Given the description of an element on the screen output the (x, y) to click on. 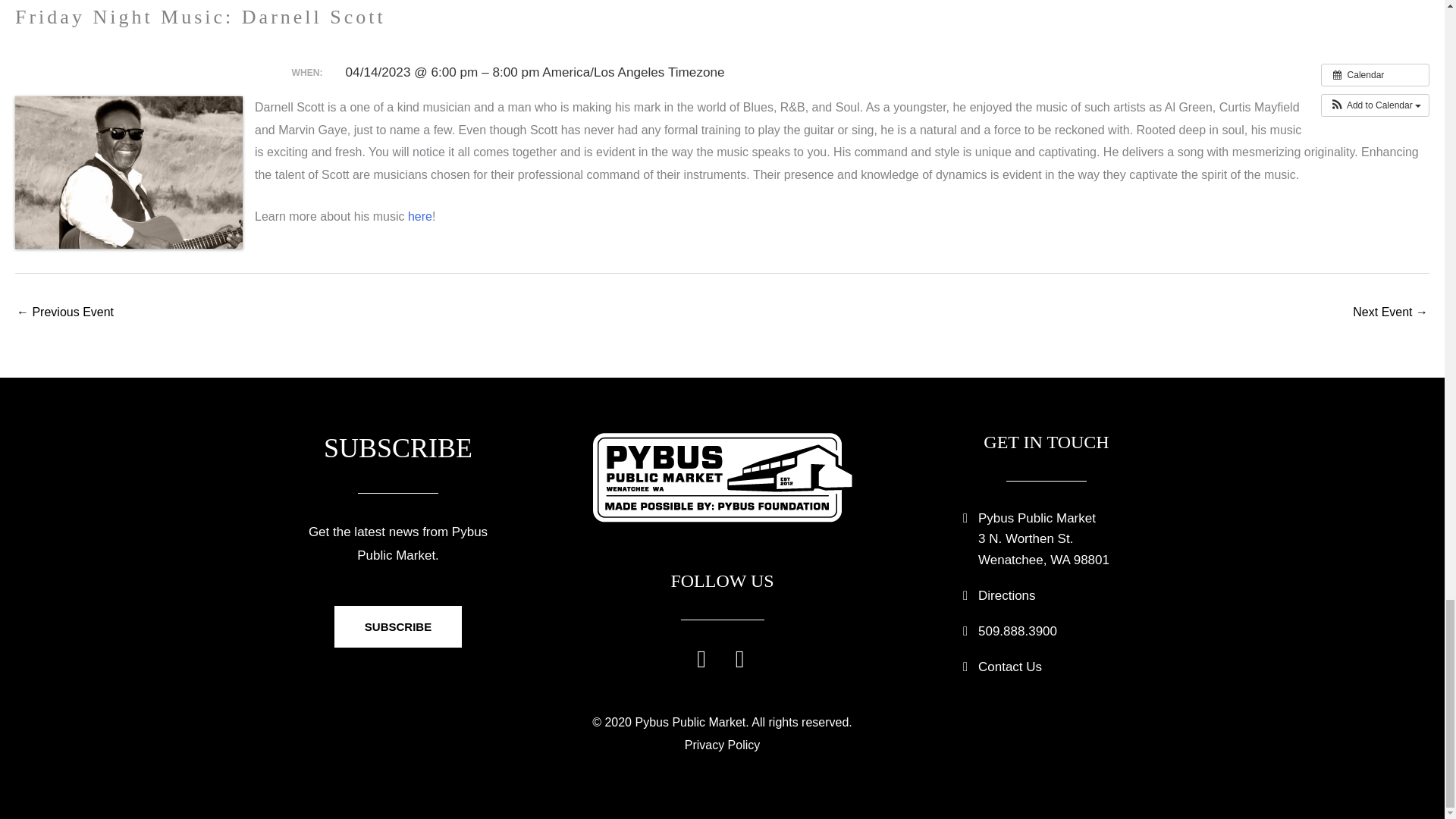
Directions (1006, 595)
Friday Night Music: Dos Dudes (64, 313)
View all events (1374, 74)
Friday Night Music: Sage Hills Trio (1390, 313)
